Given the description of an element on the screen output the (x, y) to click on. 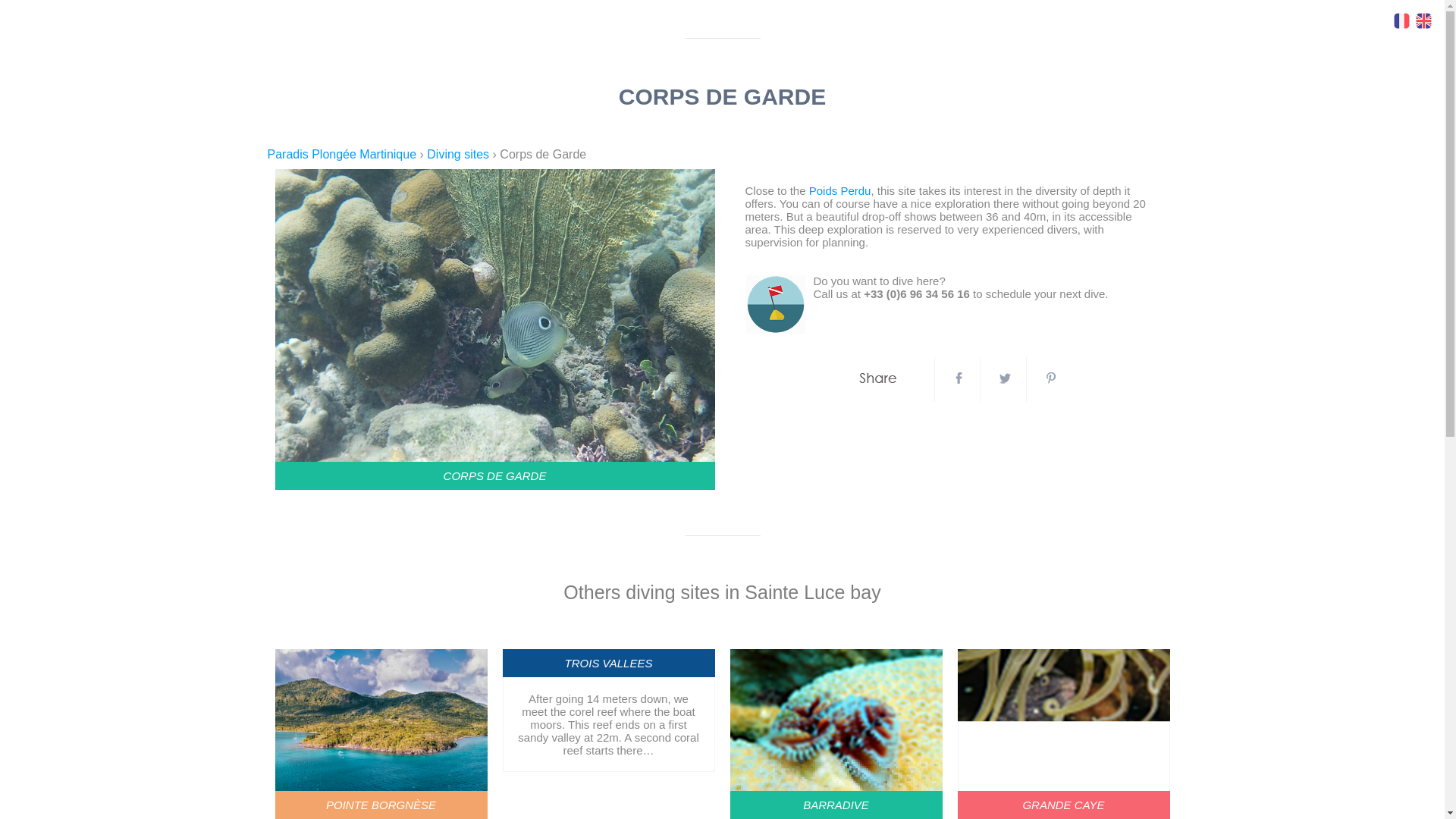
Twitter (1005, 379)
Search (33, 13)
Poids Perdu (839, 190)
Facebook (958, 379)
Diving sites (459, 154)
Pinterest (1050, 379)
